Given the description of an element on the screen output the (x, y) to click on. 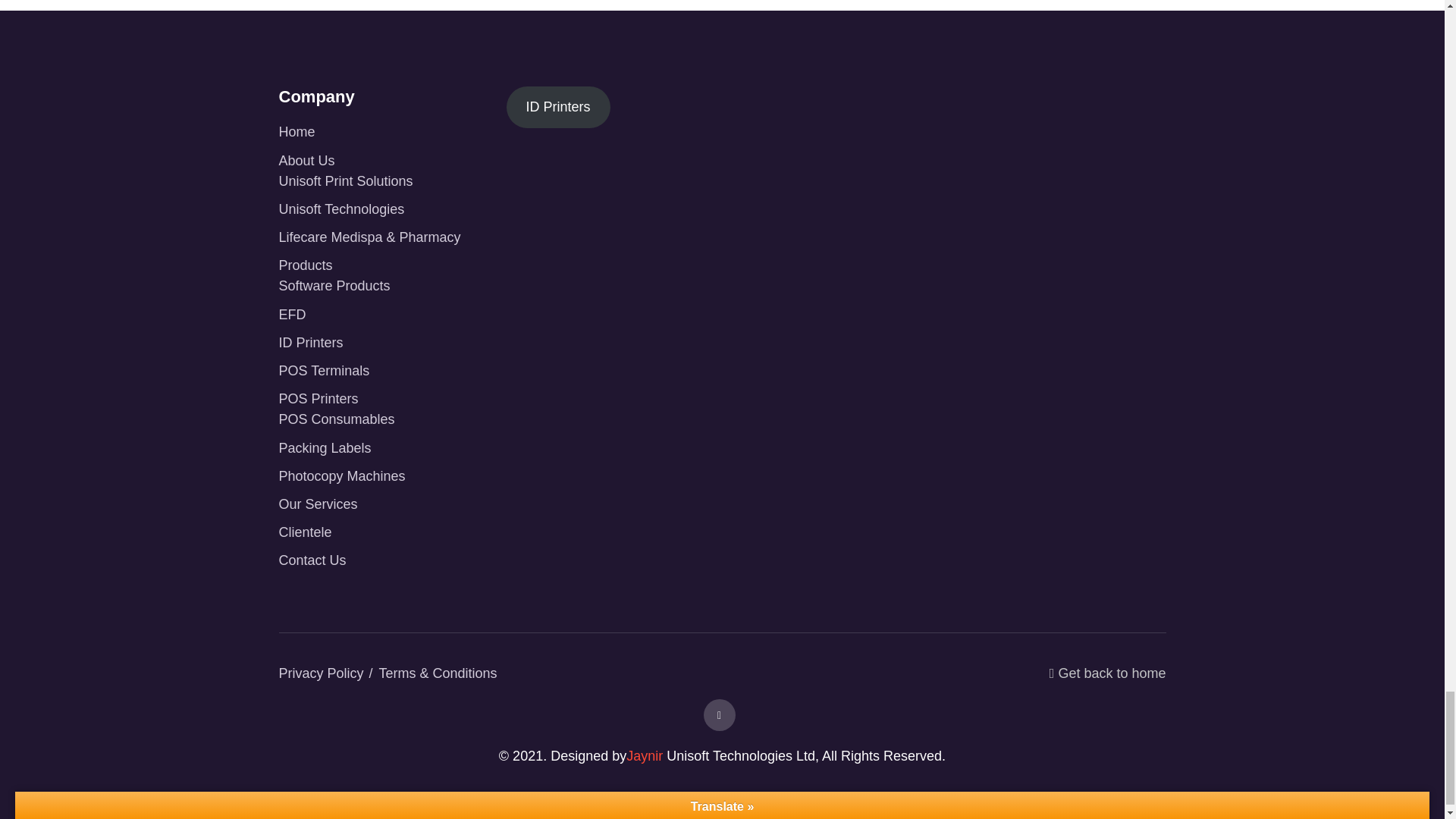
Get back to home (1107, 681)
